Given the description of an element on the screen output the (x, y) to click on. 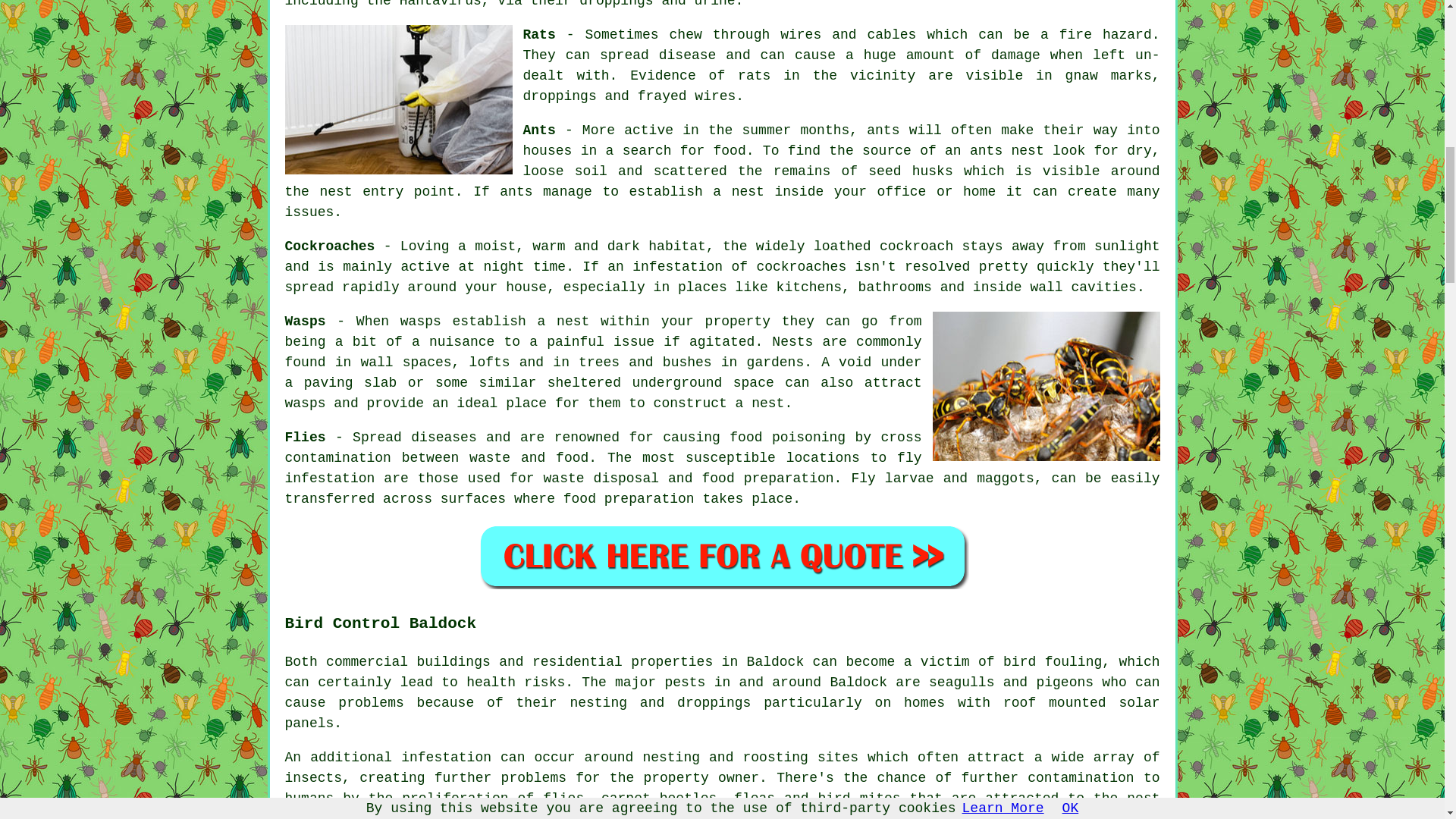
an ants nest (993, 150)
Pest Control Quotes in Baldock Hertfordshire (722, 555)
Wasp Control Baldock (1046, 386)
